Given the description of an element on the screen output the (x, y) to click on. 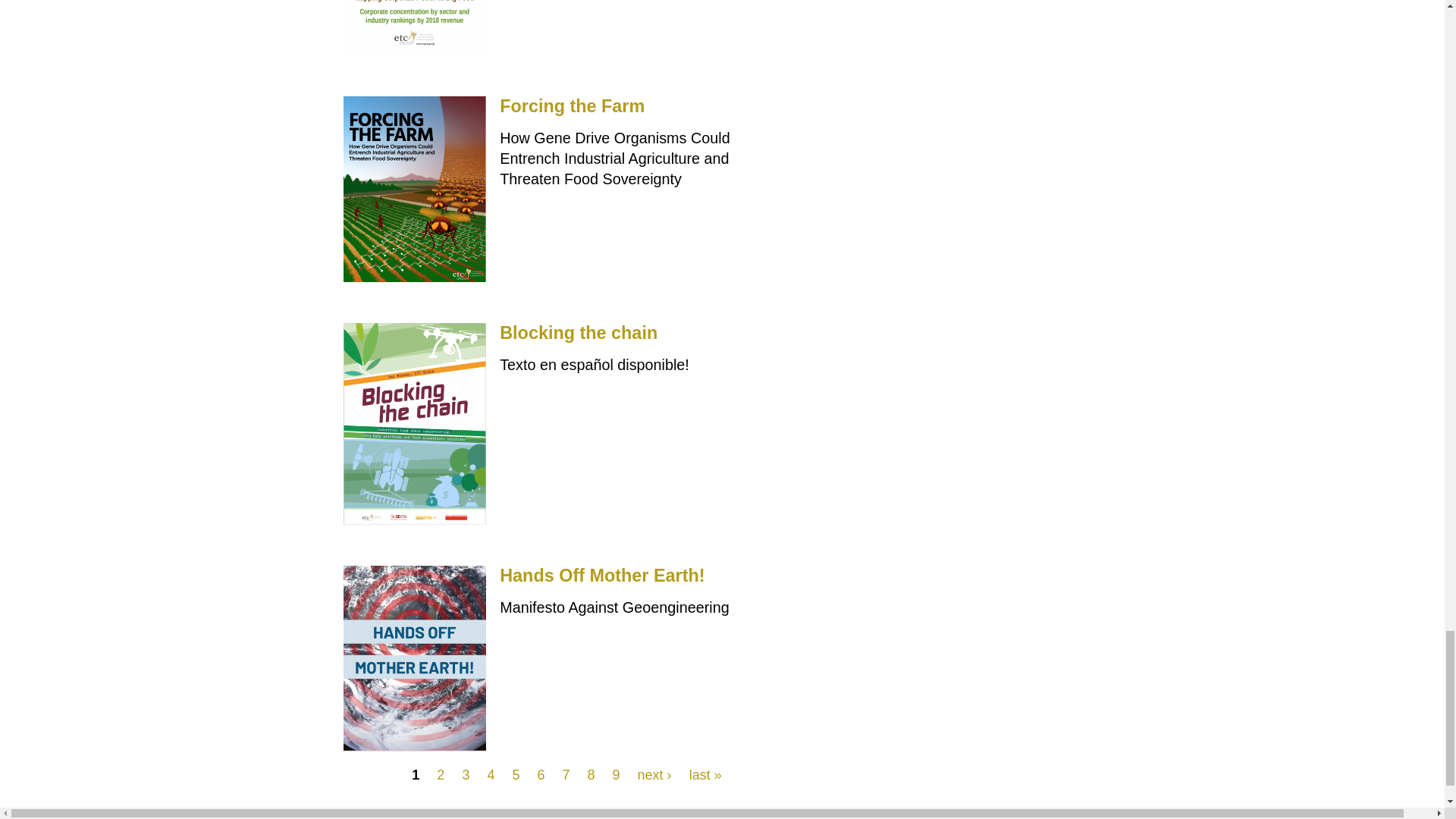
Go to page 7 (566, 774)
Go to page 4 (490, 774)
Go to next page (654, 774)
2 (440, 774)
Go to page 9 (616, 774)
Go to page 3 (464, 774)
Go to page 8 (591, 774)
Blocking the chain (578, 332)
Go to page 6 (540, 774)
Go to page 5 (515, 774)
3 (464, 774)
Go to page 2 (440, 774)
Forcing the Farm (572, 106)
Hands Off Mother Earth! (601, 575)
Go to last page (705, 774)
